Given the description of an element on the screen output the (x, y) to click on. 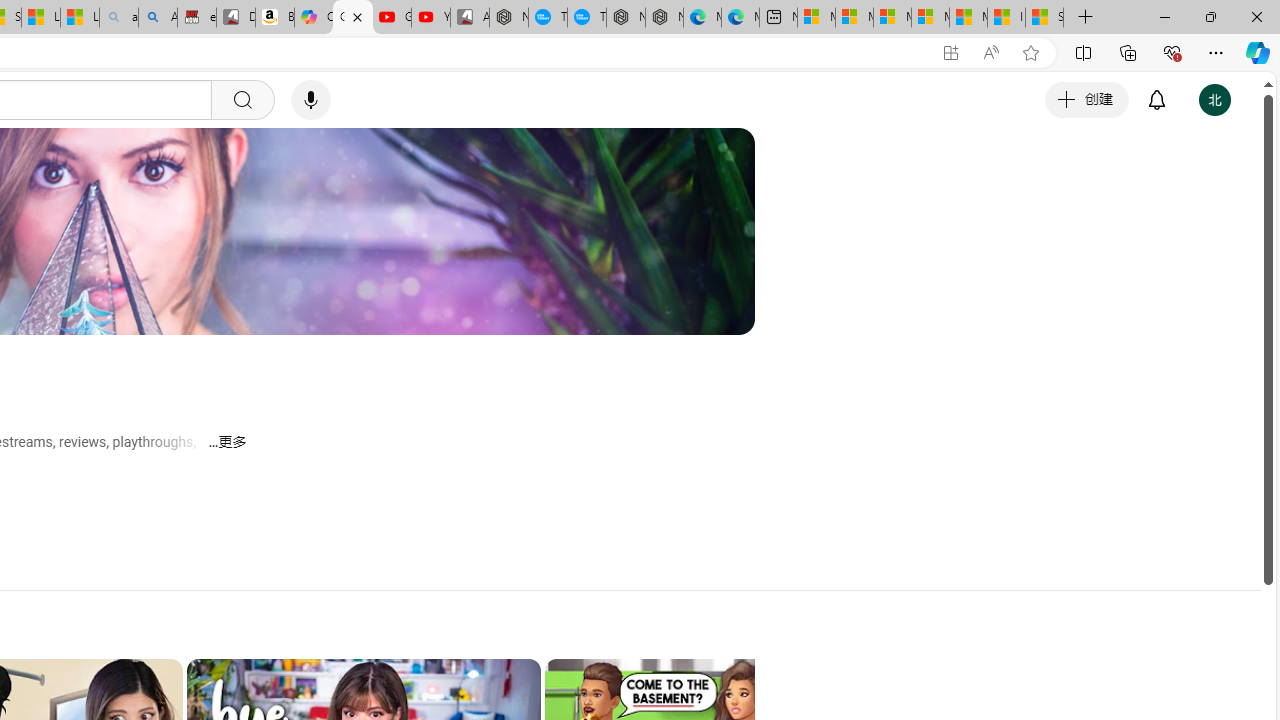
Amazon Echo Dot PNG - Search Images (157, 17)
YouTube Kids - An App Created for Kids to Explore Content (431, 17)
